Given the description of an element on the screen output the (x, y) to click on. 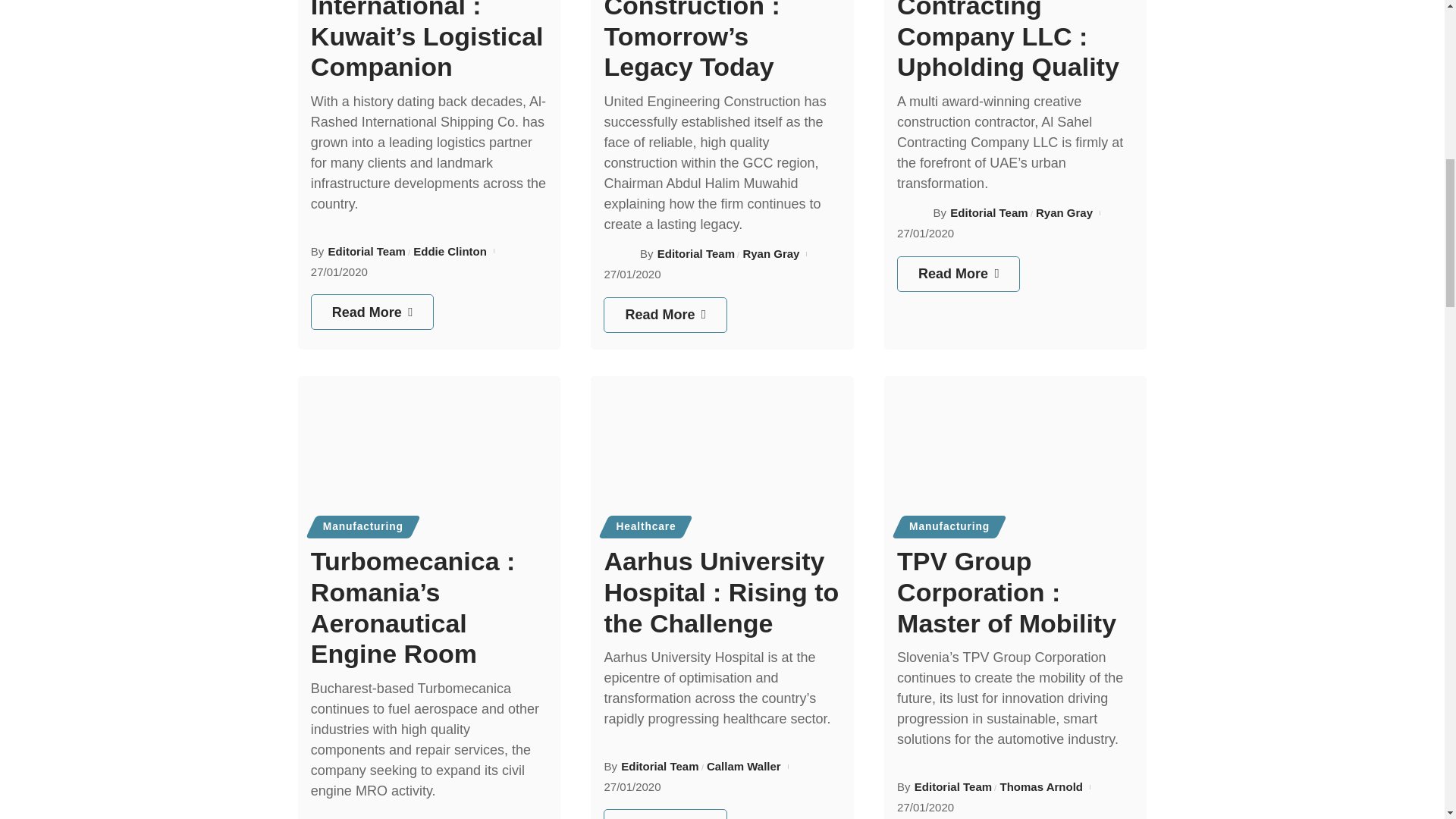
TPV Group Corporation : Master of Mobility (1015, 454)
Aarhus University Hospital : Rising to the Challenge (722, 454)
